Given the description of an element on the screen output the (x, y) to click on. 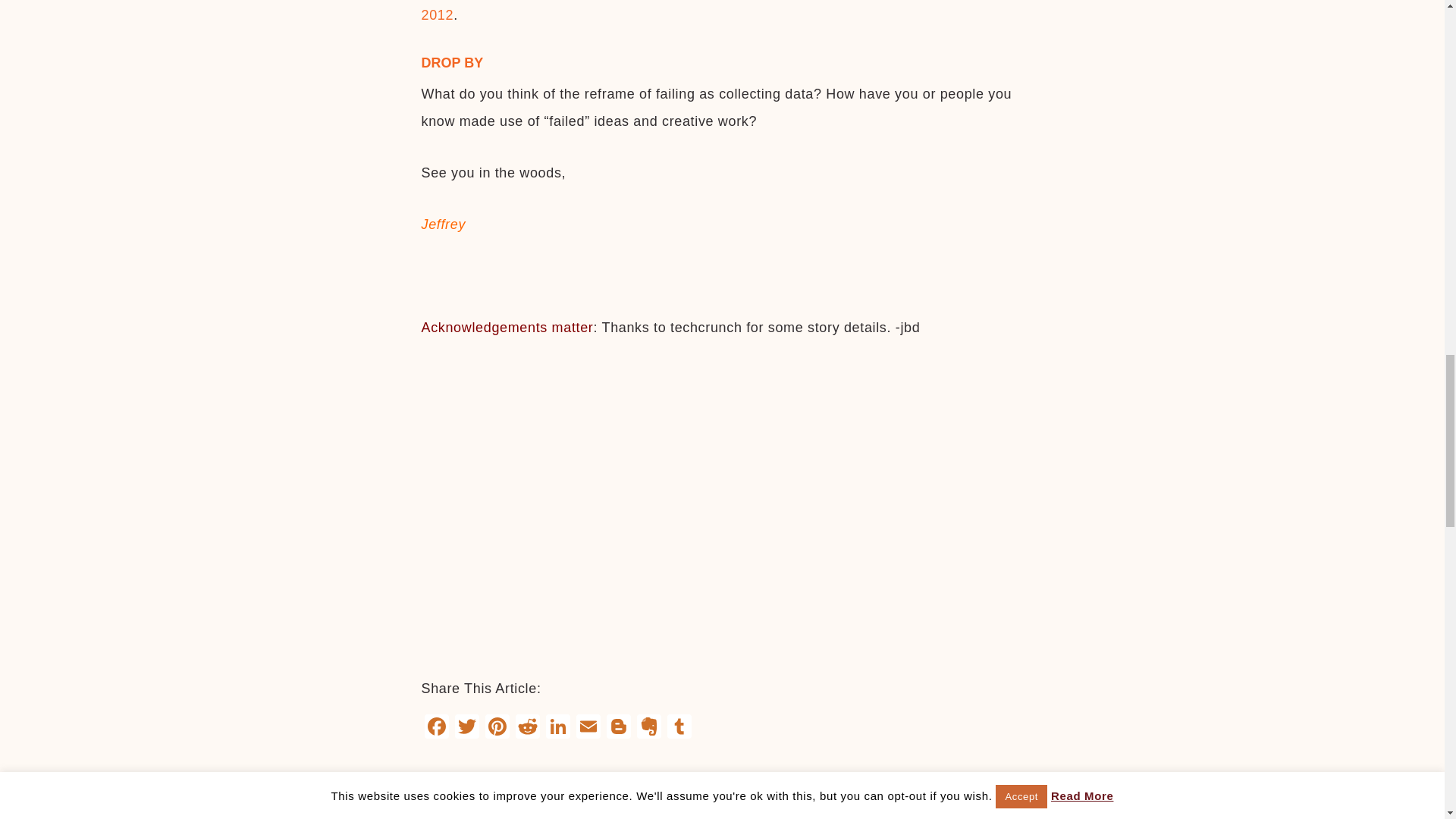
Facebook (436, 728)
Evernote (648, 728)
Tumblr (678, 728)
LinkedIn (558, 728)
Reddit (527, 728)
Twitter (466, 728)
Pinterest (496, 728)
Reddit (527, 728)
Facebook (436, 728)
LinkedIn (558, 728)
